Given the description of an element on the screen output the (x, y) to click on. 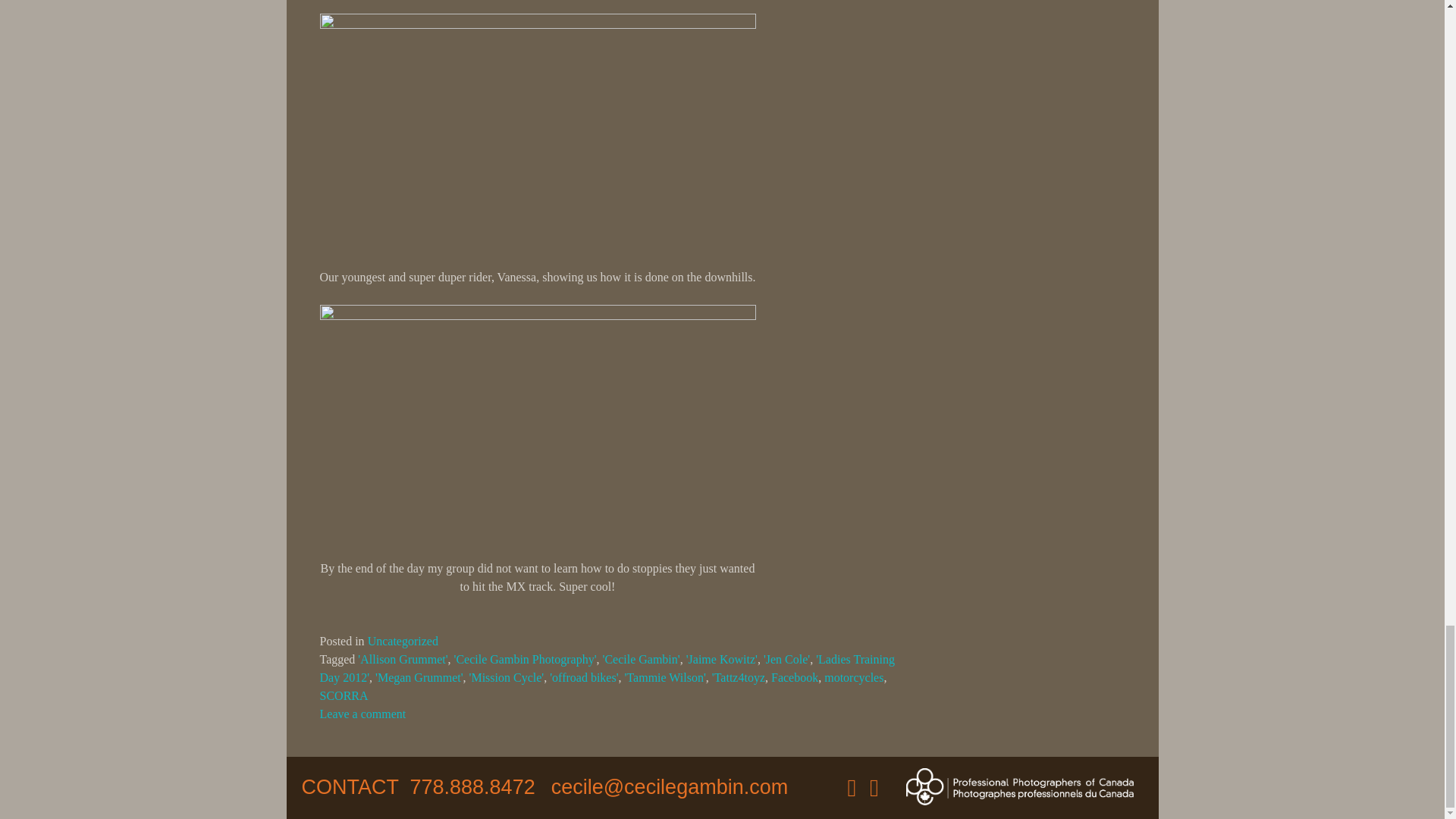
Blog Ladies Clinic (537, 135)
Leave a comment (363, 713)
'Allison Grummet' (402, 658)
Flying high with Averil (537, 426)
'Tammie Wilson' (665, 676)
'Tattz4toyz (738, 676)
motorcycles (853, 676)
'Mission Cycle' (506, 676)
Facebook (794, 676)
'Ladies Training Day 2012' (607, 667)
